Given the description of an element on the screen output the (x, y) to click on. 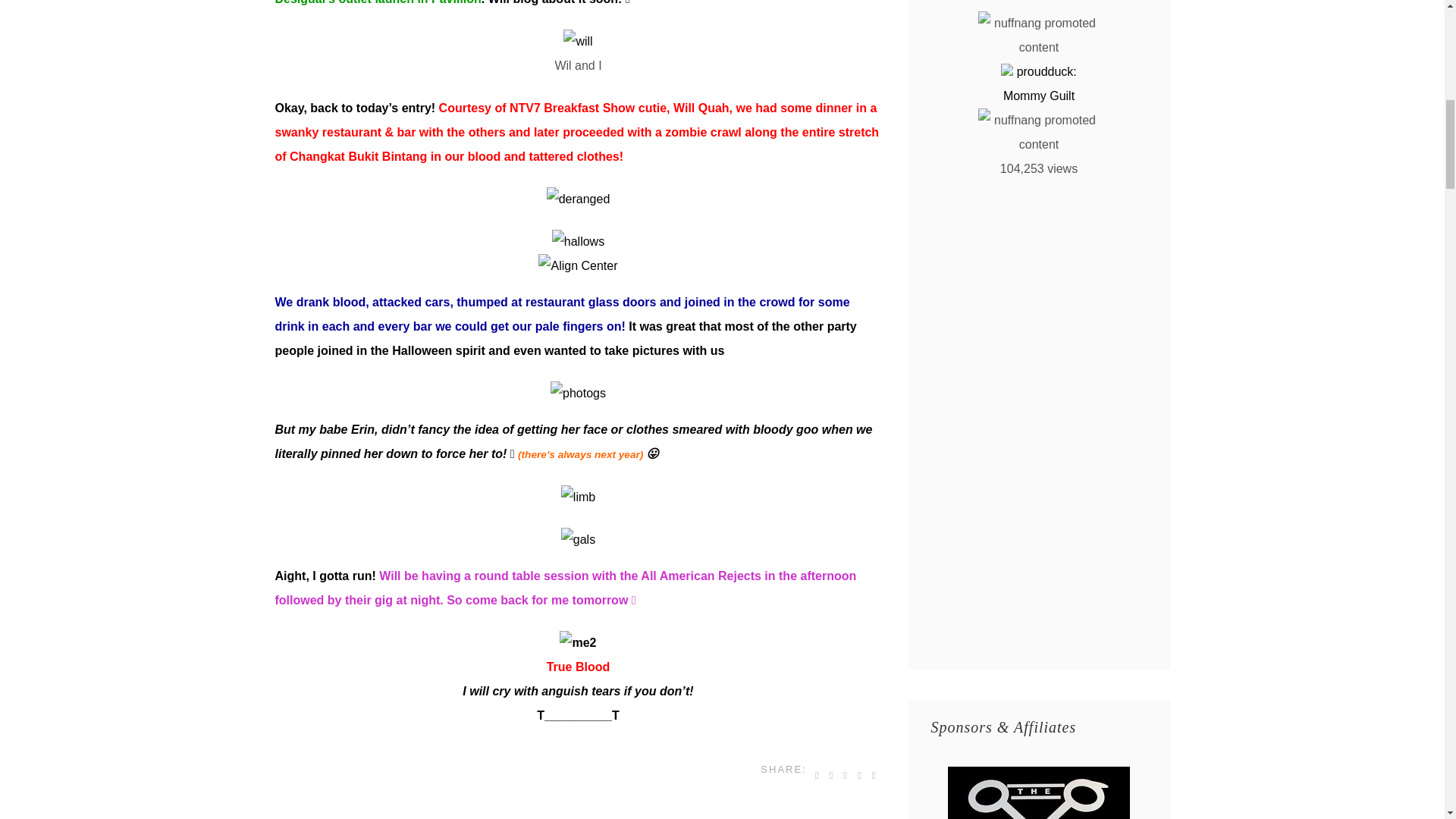
limb by jtsljess, on Flickr (577, 496)
hallows by jtsljess, on Flickr (577, 241)
will by jtsljess, on Flickr (577, 41)
Align Center (577, 265)
deranged by jtsljess, on Flickr (578, 198)
photogs by jtsljess, on Flickr (577, 392)
